Given the description of an element on the screen output the (x, y) to click on. 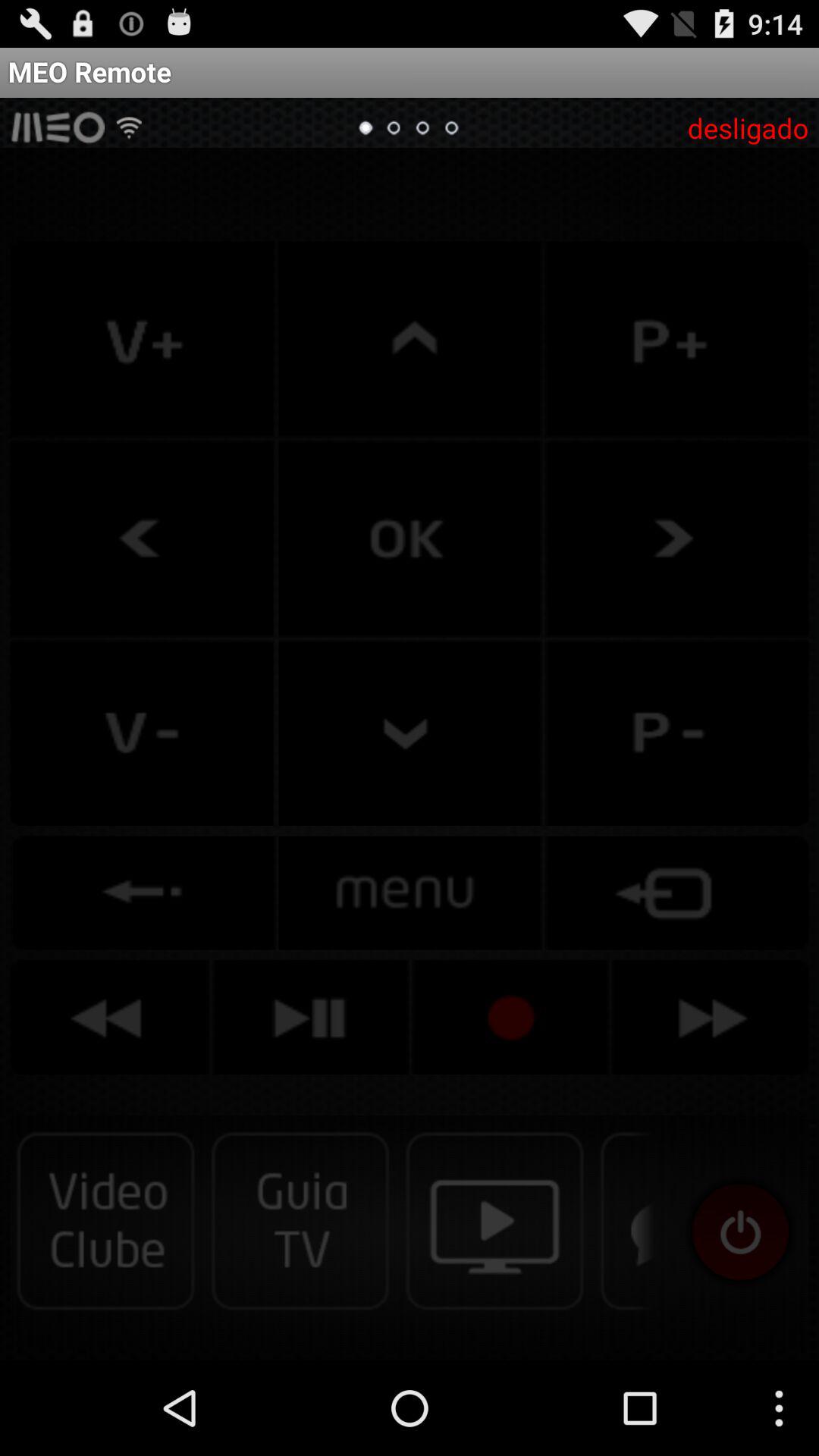
open the desligado app (747, 127)
